Given the description of an element on the screen output the (x, y) to click on. 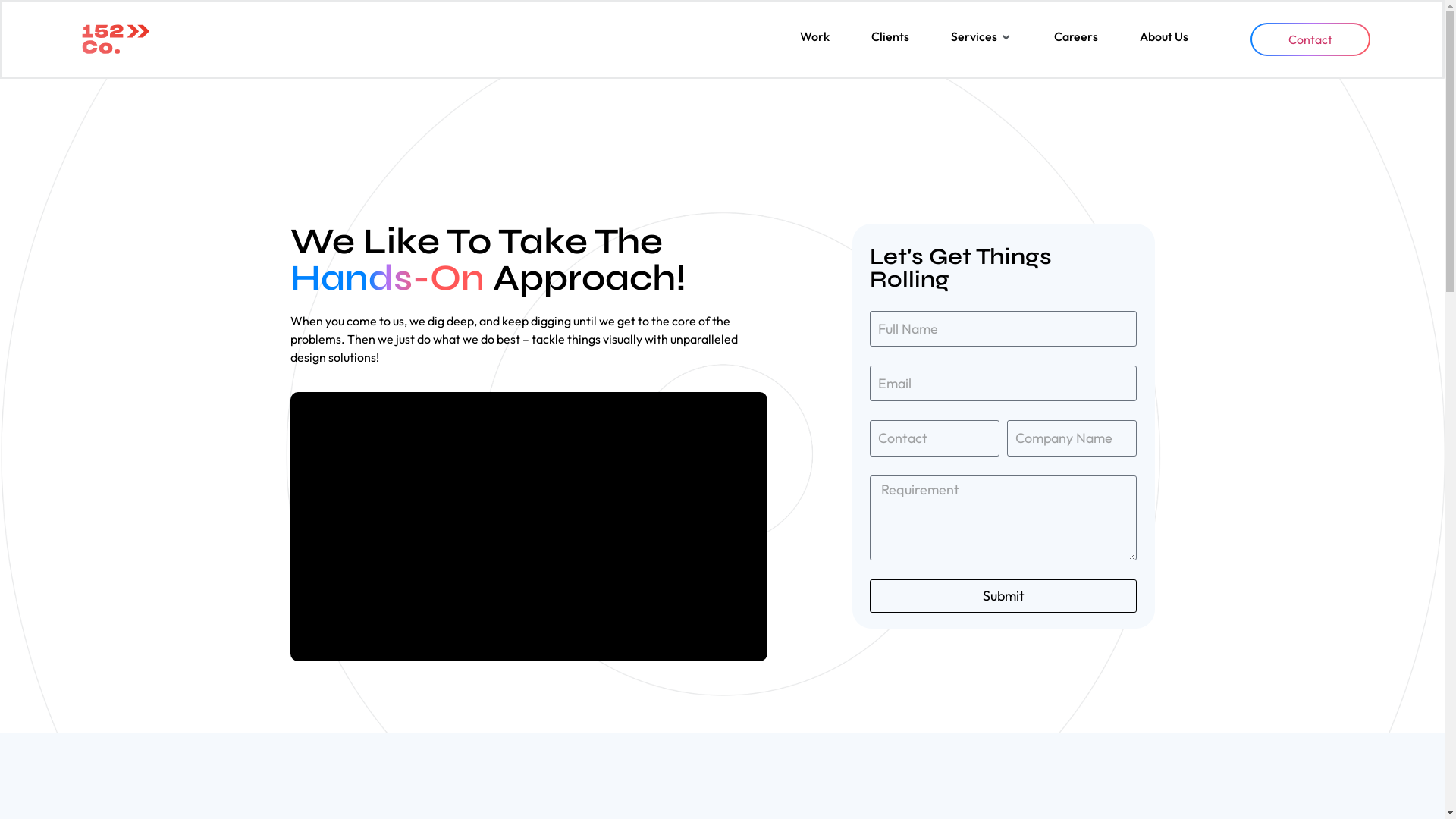
Work Element type: text (814, 35)
About Us Element type: text (1163, 35)
Careers Element type: text (1076, 35)
Contact Element type: text (1310, 39)
Clients Element type: text (890, 35)
Services Element type: text (973, 35)
Contact Element type: text (1310, 39)
vimeo Video Player Element type: hover (528, 526)
Submit Element type: text (1002, 595)
